Given the description of an element on the screen output the (x, y) to click on. 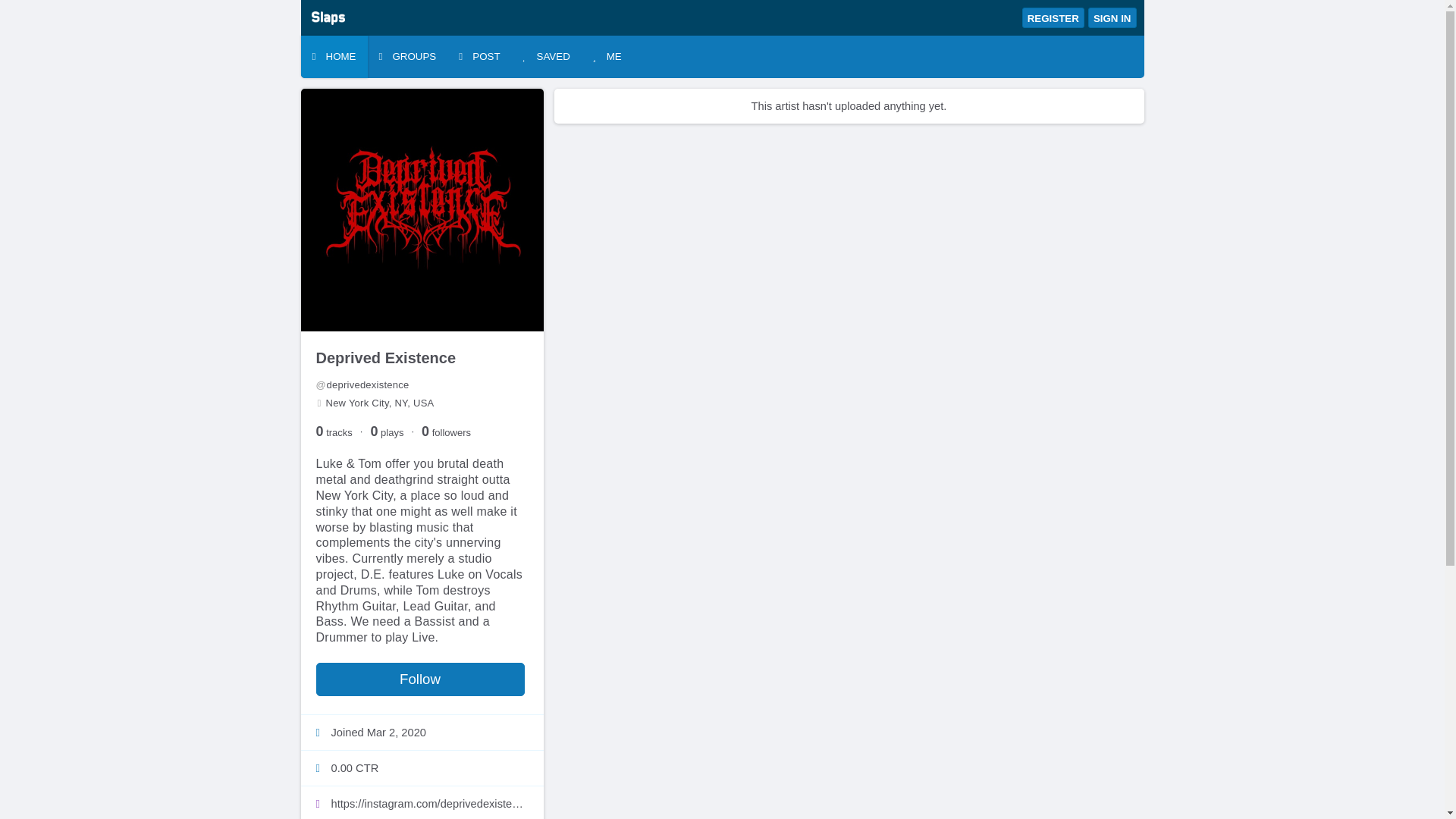
SIGN IN (1112, 17)
Deprived Existence (385, 357)
SAVED (546, 56)
ME (606, 56)
POST (478, 56)
HOME (332, 56)
REGISTER (1053, 17)
GROUPS (406, 56)
